Given the description of an element on the screen output the (x, y) to click on. 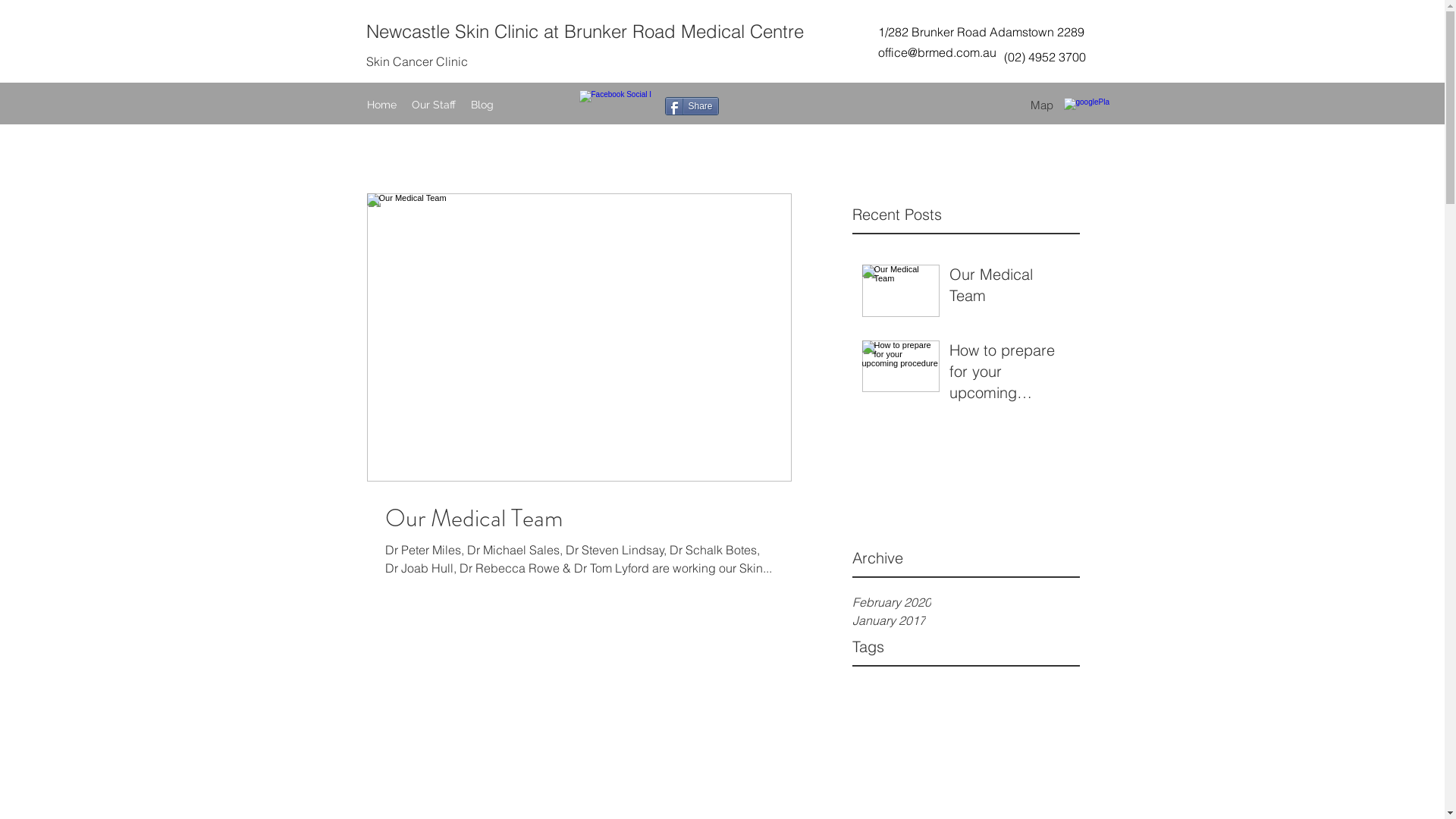
Our Staff Element type: text (432, 104)
skin cancer Element type: text (945, 753)
Our Medical Team Element type: text (1009, 287)
best practices Element type: text (961, 687)
procedures Element type: text (880, 753)
coleman Element type: text (873, 709)
dermatology Element type: text (932, 709)
Our Medical Team Element type: text (579, 517)
Blog Element type: text (481, 104)
montanari Element type: text (1038, 731)
skin check Element type: text (1008, 753)
Facebook Like Element type: hover (916, 114)
How to prepare for your upcoming procedure Element type: text (1009, 374)
January 2017 Element type: text (965, 620)
changes Element type: text (1026, 687)
February 2020 Element type: text (965, 602)
macpherson Element type: text (1004, 709)
office@brmed.com.au Element type: text (937, 51)
miles Element type: text (959, 731)
Share Element type: text (691, 106)
medical practices Element type: text (895, 731)
Home Element type: text (381, 104)
mole Element type: text (994, 731)
anticoagulant Element type: text (885, 687)
